Given the description of an element on the screen output the (x, y) to click on. 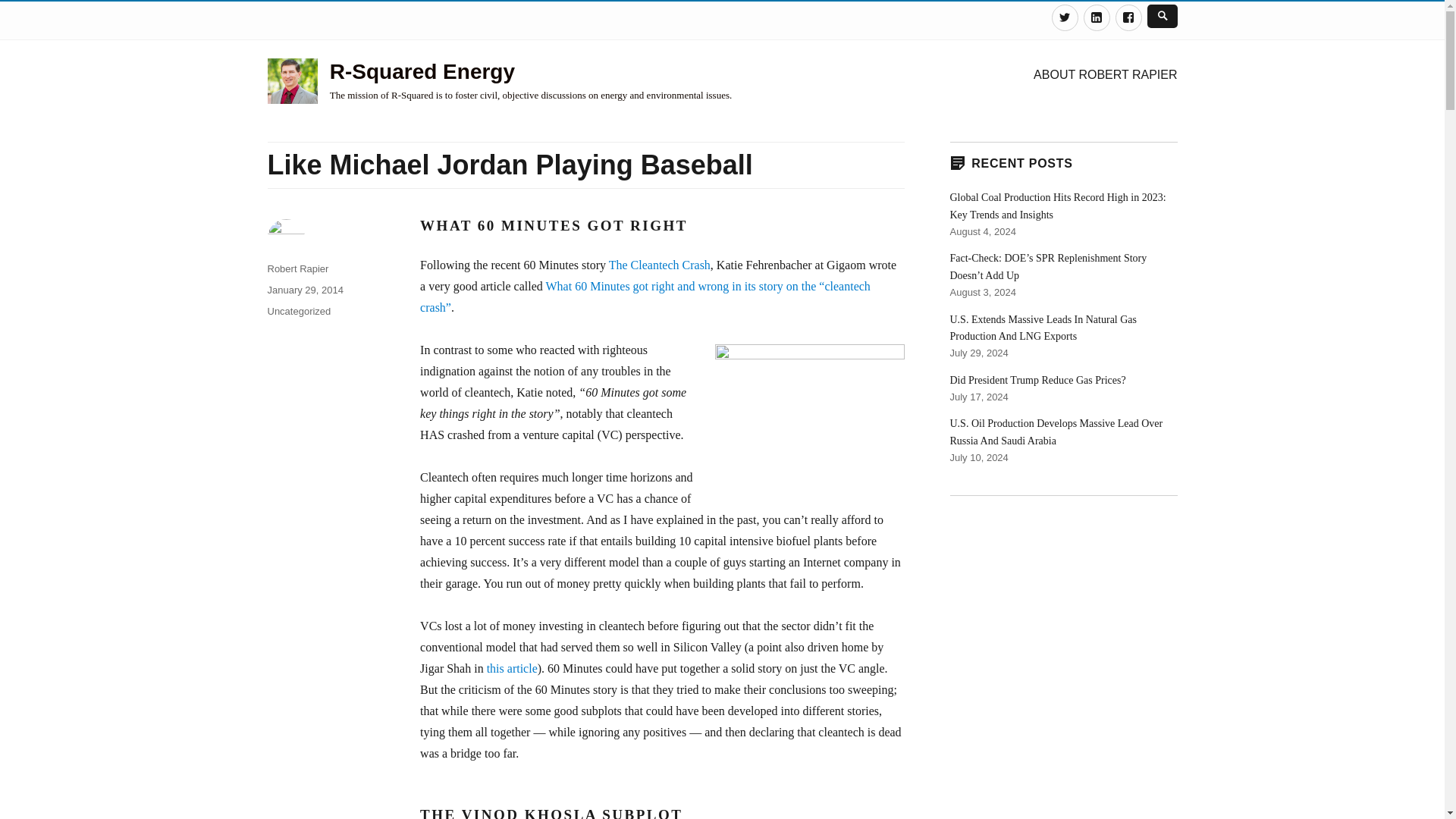
R-Squared Energy (422, 71)
Facebook (1128, 17)
ABOUT ROBERT RAPIER (1105, 74)
Did President Trump Reduce Gas Prices? (1037, 379)
January 29, 2014 (304, 289)
The Cleantech Crash (659, 264)
Robert Rapier (297, 268)
Uncategorized (298, 310)
this article (511, 667)
Vinod Khosla (809, 406)
Twitter (1064, 17)
Linkedin (1096, 17)
